Given the description of an element on the screen output the (x, y) to click on. 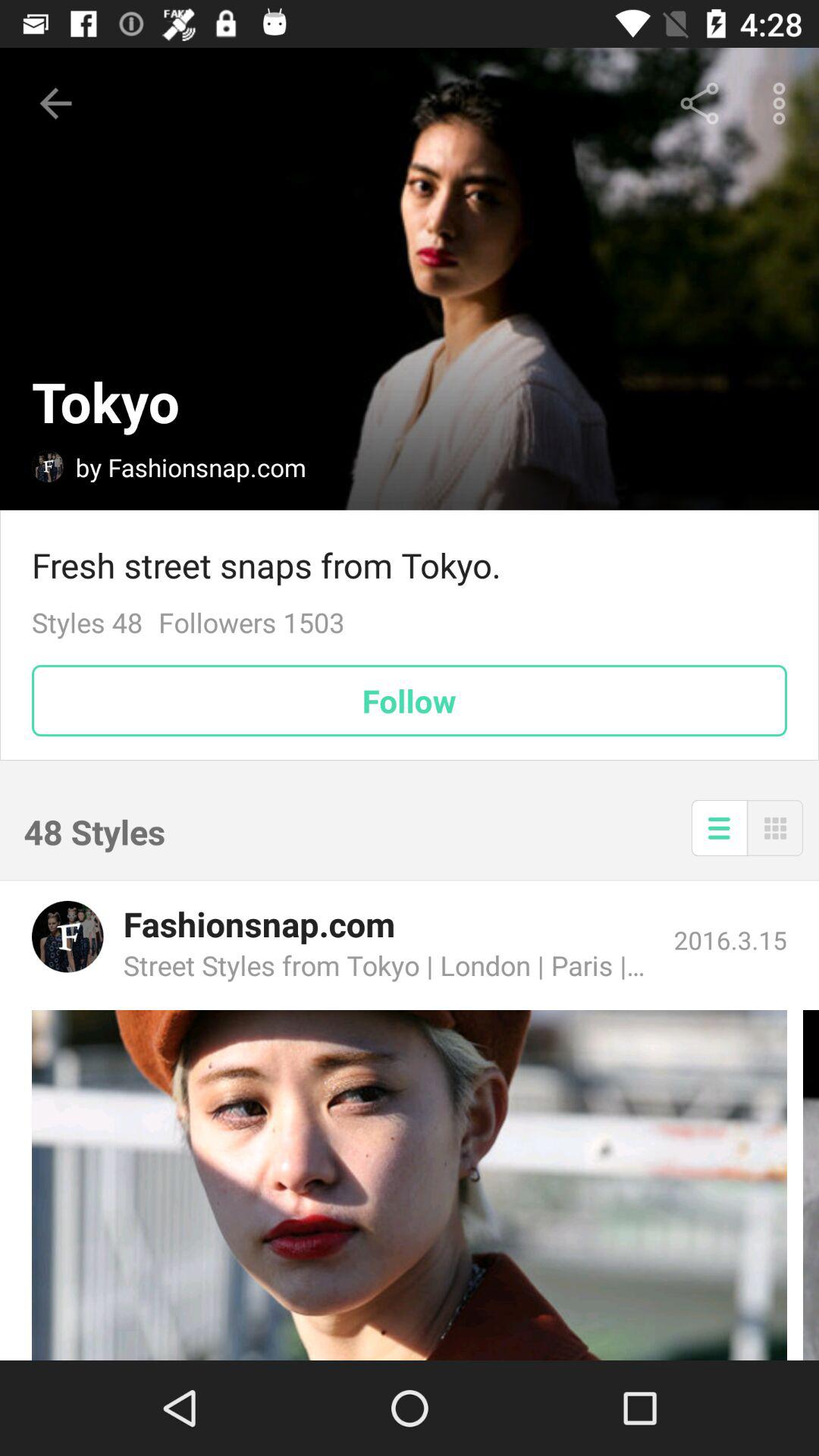
flip until follow item (409, 700)
